Given the description of an element on the screen output the (x, y) to click on. 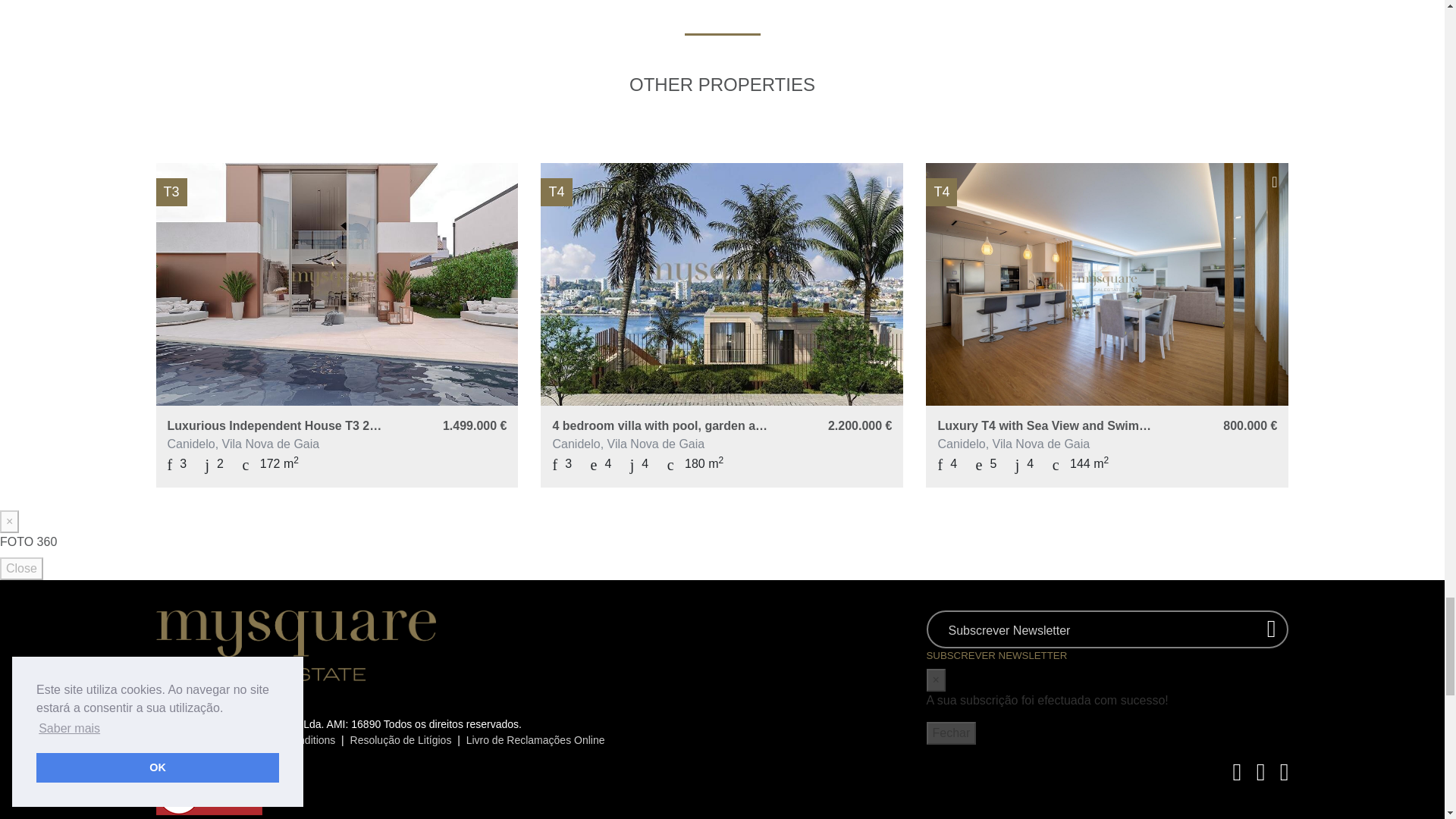
Canidelo, Vila Nova de Gaia (276, 443)
Baths (601, 464)
Living area (269, 464)
Living area (694, 464)
Canidelo, Vila Nova de Gaia (661, 443)
4 bedroom villa with pool, garden and Douro river view (661, 425)
Luxurious Independent House T3 200M from Canidelo Beach (276, 425)
